Given the description of an element on the screen output the (x, y) to click on. 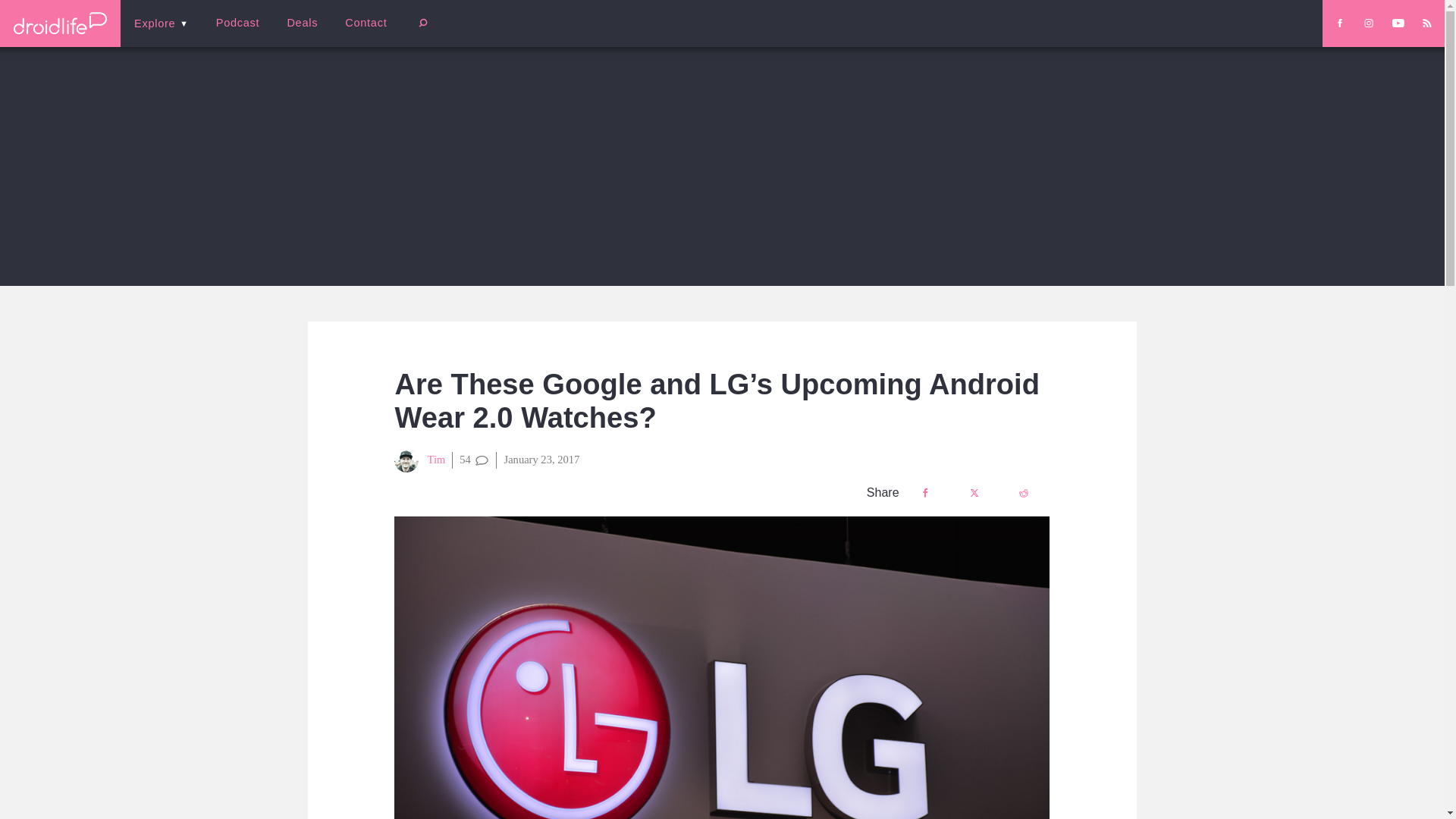
Droid Life on Facebook (1339, 23)
Tim (419, 459)
Contact (365, 23)
Podcast (237, 23)
Beginners' Guide (360, 33)
Deals (302, 23)
Explore (161, 23)
Droid Life on Instagram (1368, 23)
Droid Life RSS (1426, 23)
Droid Life on YouTube (1398, 23)
